Given the description of an element on the screen output the (x, y) to click on. 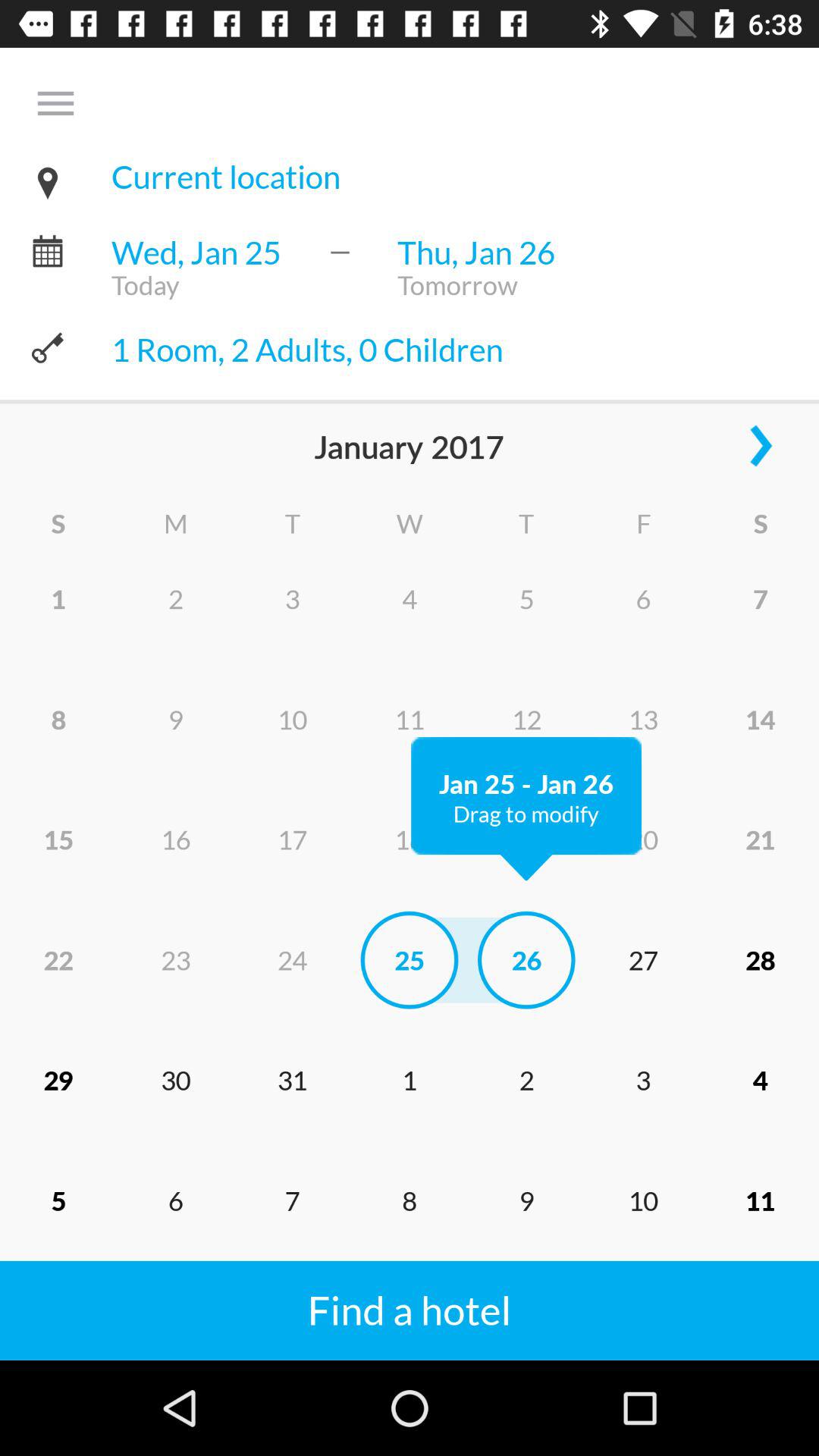
select on the text find a hotel (290, 1292)
select the last one which is in the white color (421, 1292)
select the menu bar (66, 114)
